Given the description of an element on the screen output the (x, y) to click on. 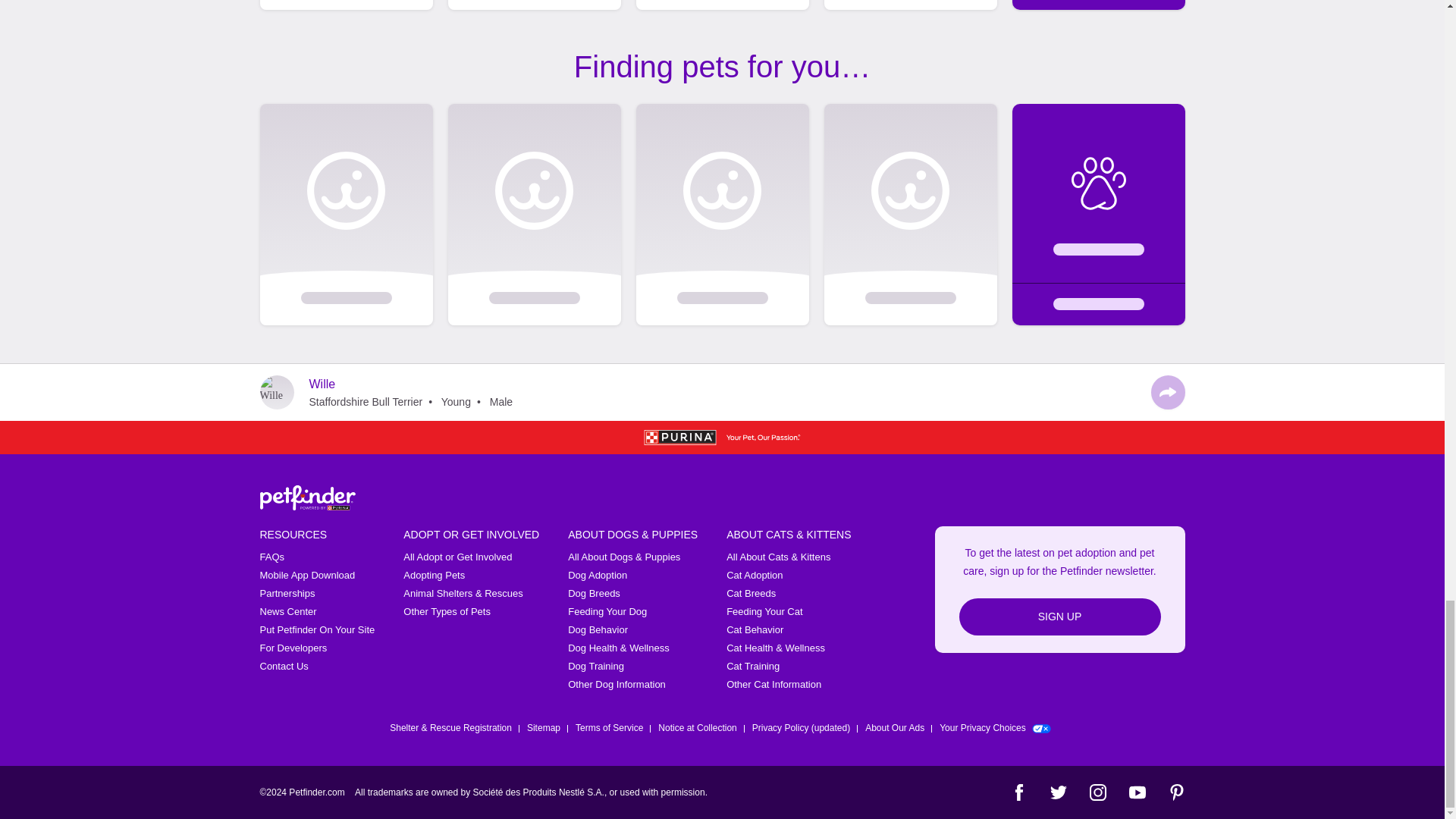
Petfinder Logo (307, 497)
Twitter (1057, 791)
Instagram (1097, 791)
YouTube (1136, 791)
Pinterest (1176, 791)
Facebook (1018, 791)
